Given the description of an element on the screen output the (x, y) to click on. 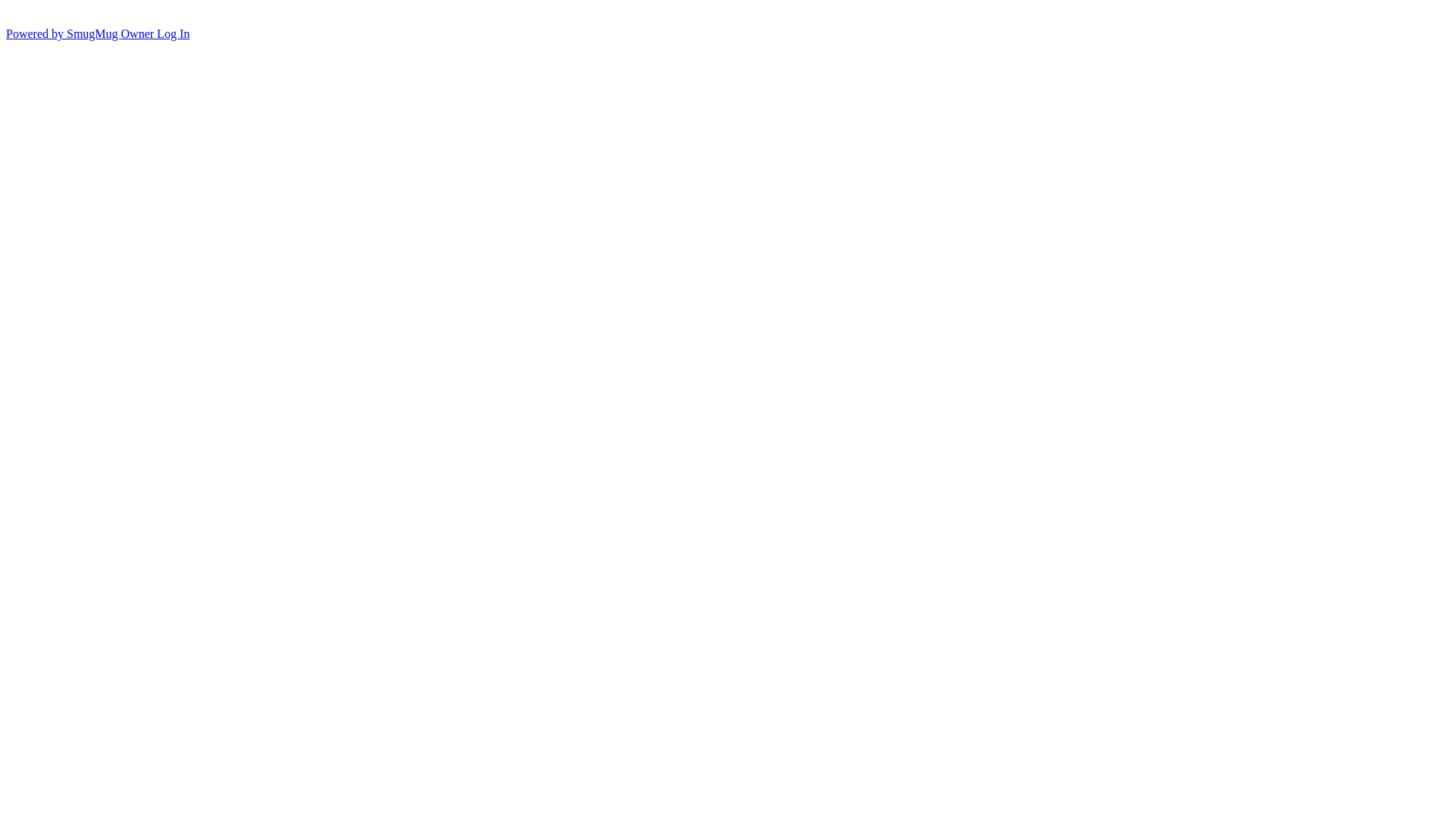
Powered by SmugMug Element type: text (63, 33)
Owner Log In Element type: text (155, 33)
